Given the description of an element on the screen output the (x, y) to click on. 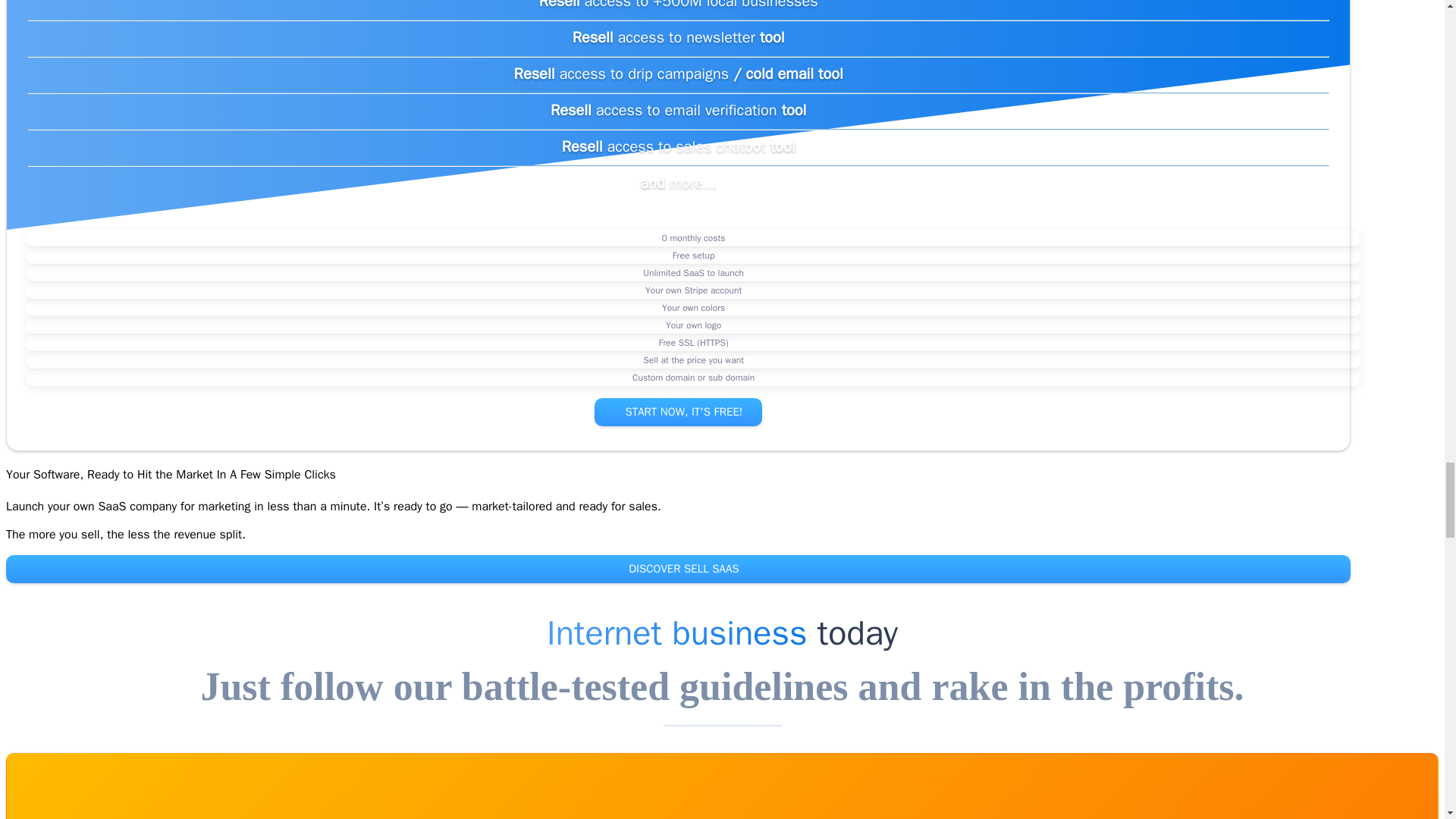
DISCOVER SELL SAAS (678, 568)
DISCOVER SELL SAAS (678, 569)
Discover Sell SaaS (678, 568)
START NOW, IT'S FREE! (677, 411)
